Given the description of an element on the screen output the (x, y) to click on. 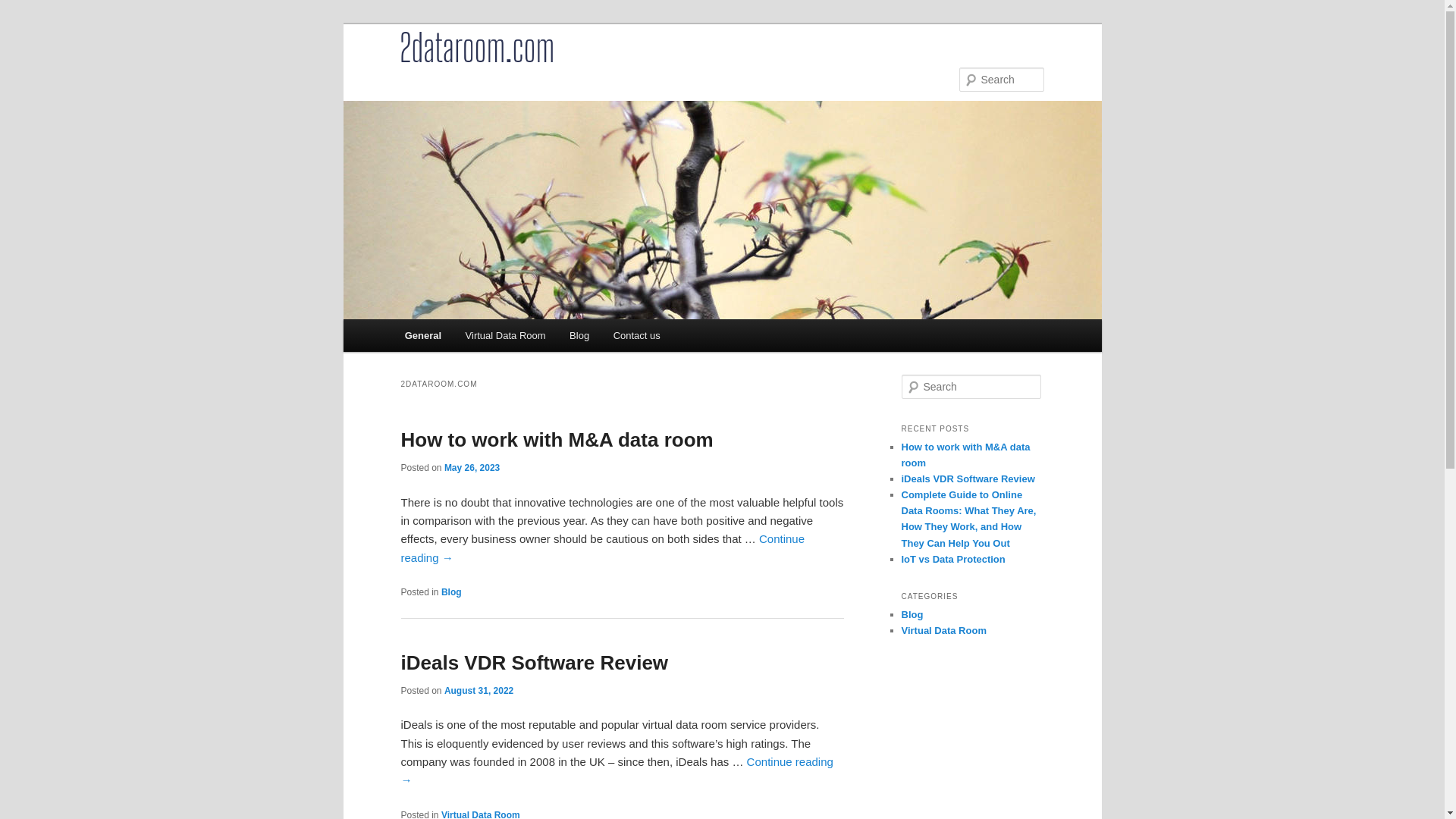
Search Element type: text (24, 8)
How to work with M&A data room Element type: text (556, 439)
iDeals VDR Software Review Element type: text (967, 478)
Blog Element type: text (451, 591)
Virtual Data Room Element type: text (505, 335)
iDeals VDR Software Review Element type: text (534, 662)
Blog Element type: text (911, 614)
Skip to primary content Element type: text (22, 22)
Virtual Data Room Element type: text (942, 630)
IoT vs Data Protection Element type: text (952, 558)
May 26, 2023 Element type: text (471, 467)
Blog Element type: text (579, 335)
Search Element type: text (20, 10)
Contact us Element type: text (636, 335)
How to work with M&A data room Element type: text (964, 454)
General Element type: text (422, 335)
August 31, 2022 Element type: text (478, 690)
